Given the description of an element on the screen output the (x, y) to click on. 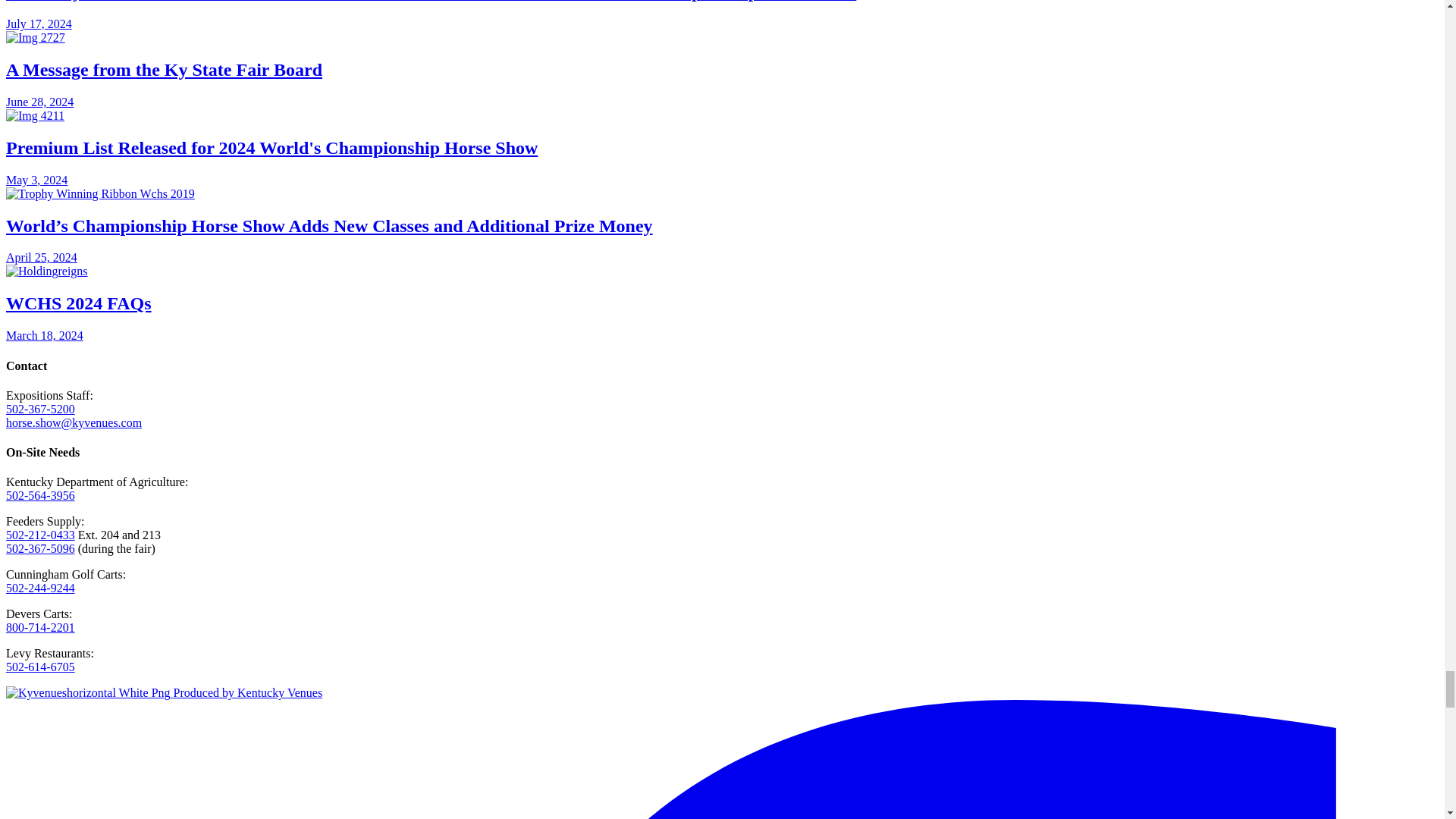
502-614-6705 (40, 666)
800-714-2201 (40, 626)
502-367-5096 (40, 548)
502-244-9244 (40, 587)
502-564-3956 (40, 495)
Produced by Kentucky Venues (163, 692)
502-212-0433 (40, 534)
502-367-5200 (40, 408)
